Given the description of an element on the screen output the (x, y) to click on. 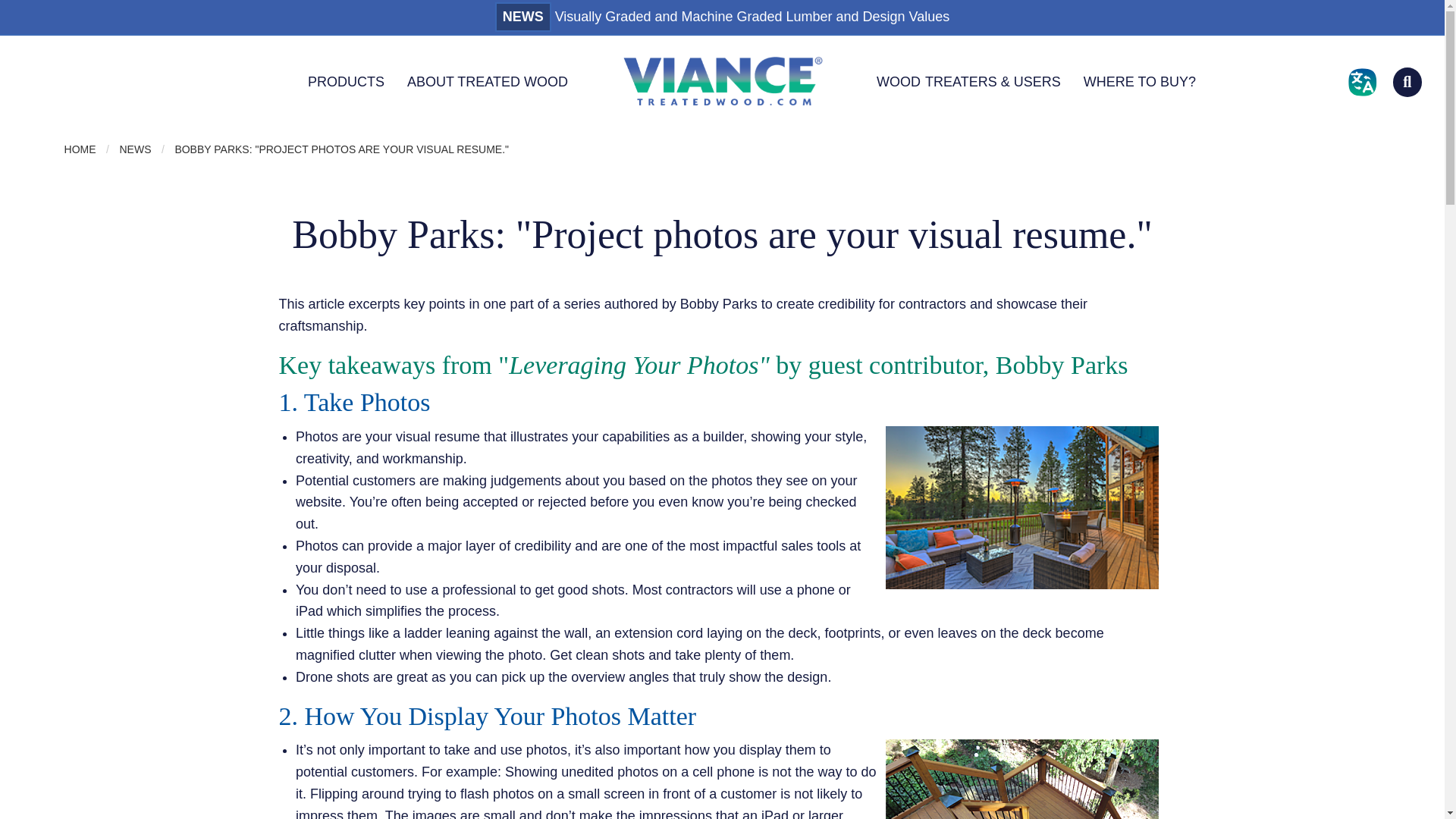
ABOUT TREATED WOOD (487, 82)
PRODUCTS (345, 82)
